Given the description of an element on the screen output the (x, y) to click on. 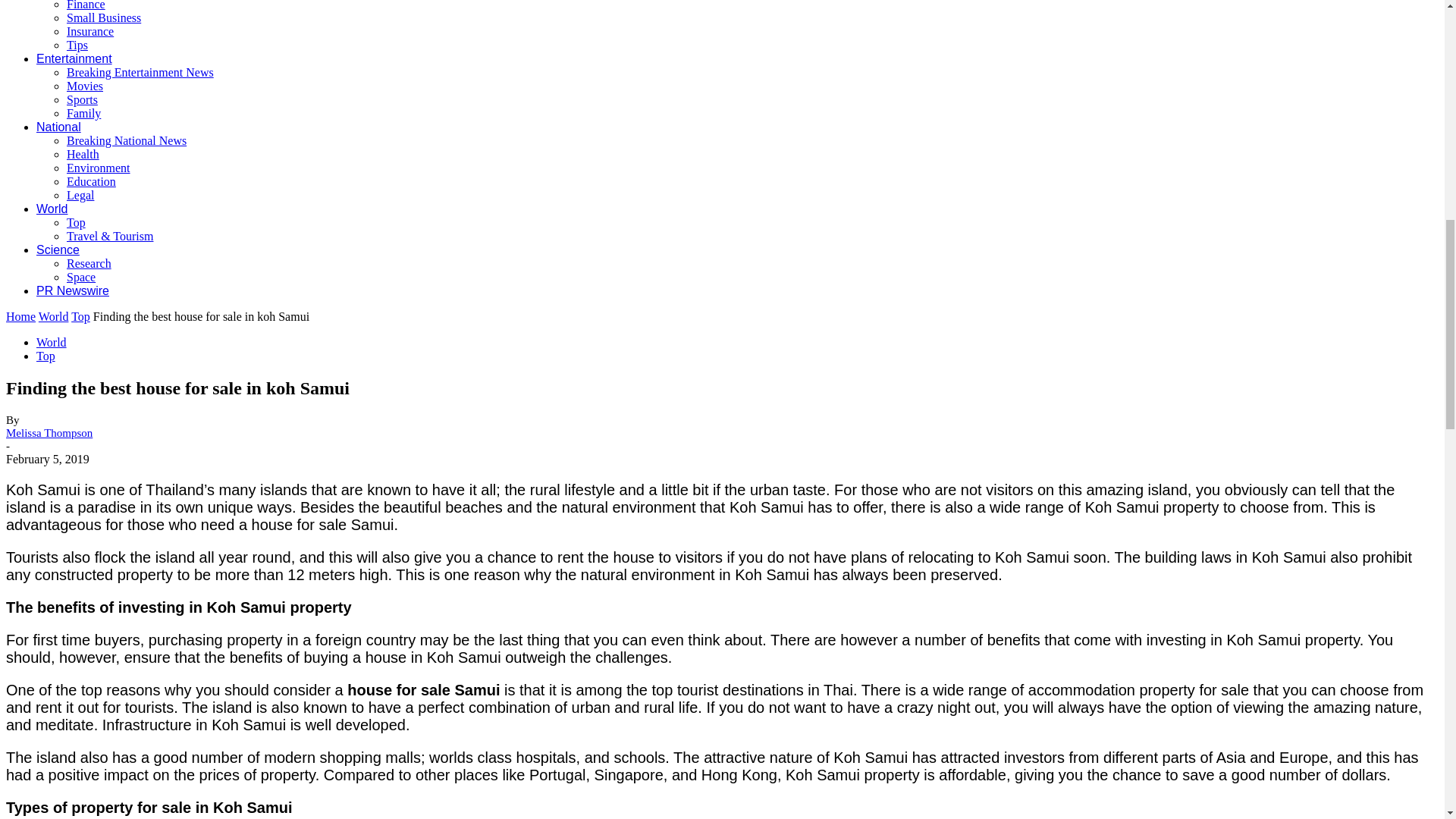
View all posts in World (53, 316)
View all posts in Top (80, 316)
